Given the description of an element on the screen output the (x, y) to click on. 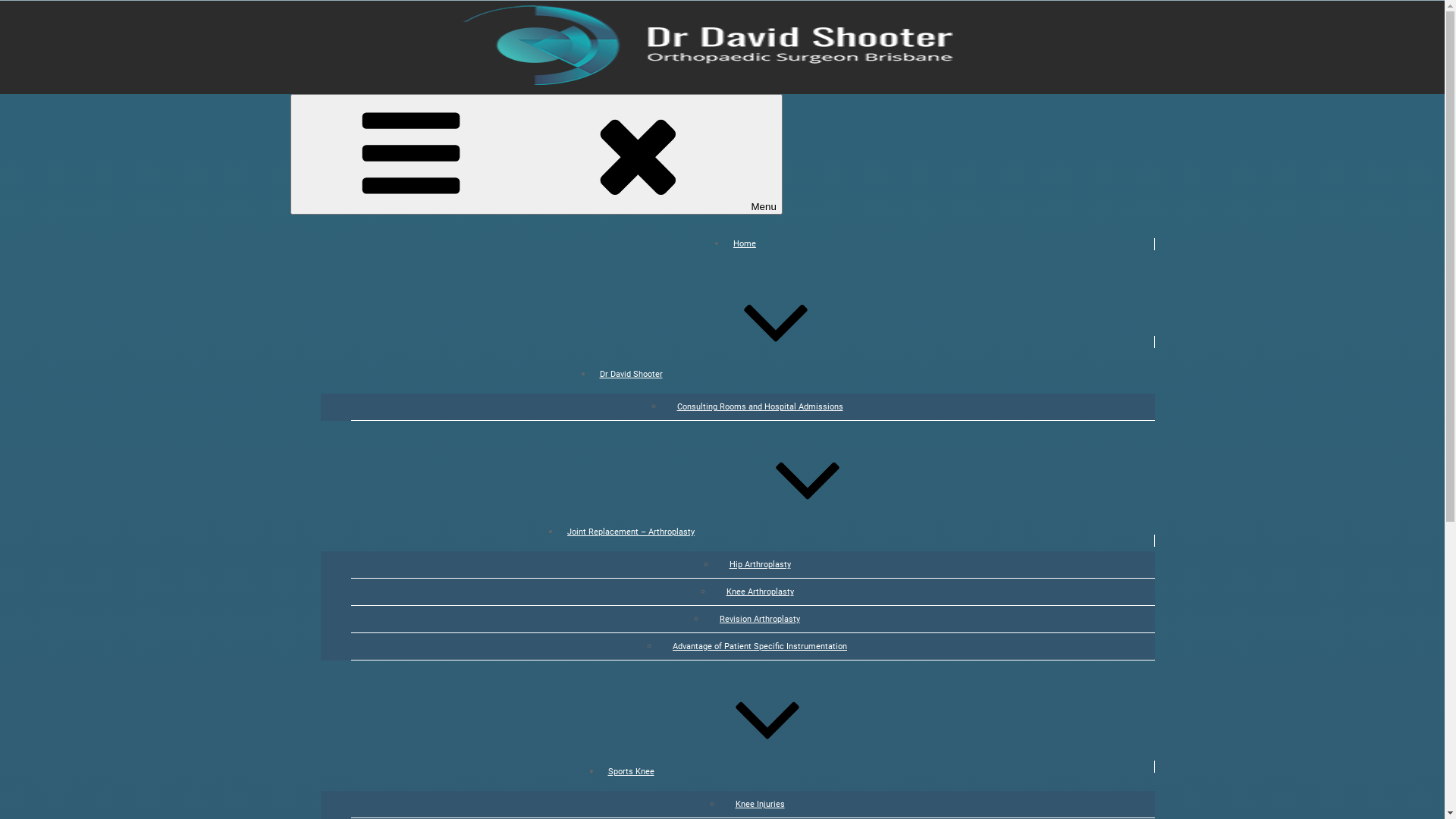
Knee Injuries Element type: text (759, 804)
SURGERY FEES Element type: text (721, 259)
Menu Element type: text (535, 154)
Home Element type: text (744, 243)
Revision Arthroplasty Element type: text (759, 619)
CONSULTATION FEES Element type: text (721, 175)
Sports Knee Element type: text (743, 771)
WHAT IS AN ITEM NUMBER? Element type: text (721, 670)
Advantage of Patient Specific Instrumentation Element type: text (759, 646)
WHAT IS THE MEDICARE BENEFITS SCHEDULE? Element type: text (721, 391)
Dr David Shooter Element type: text (745, 374)
Knee Arthroplasty Element type: text (759, 591)
Hip Arthroplasty Element type: text (759, 564)
Skip to content Element type: text (35, 7)
WHAT IS THE AMA SCHEDULE? Element type: text (721, 591)
Consulting Rooms and Hospital Admissions Element type: text (759, 406)
